Given the description of an element on the screen output the (x, y) to click on. 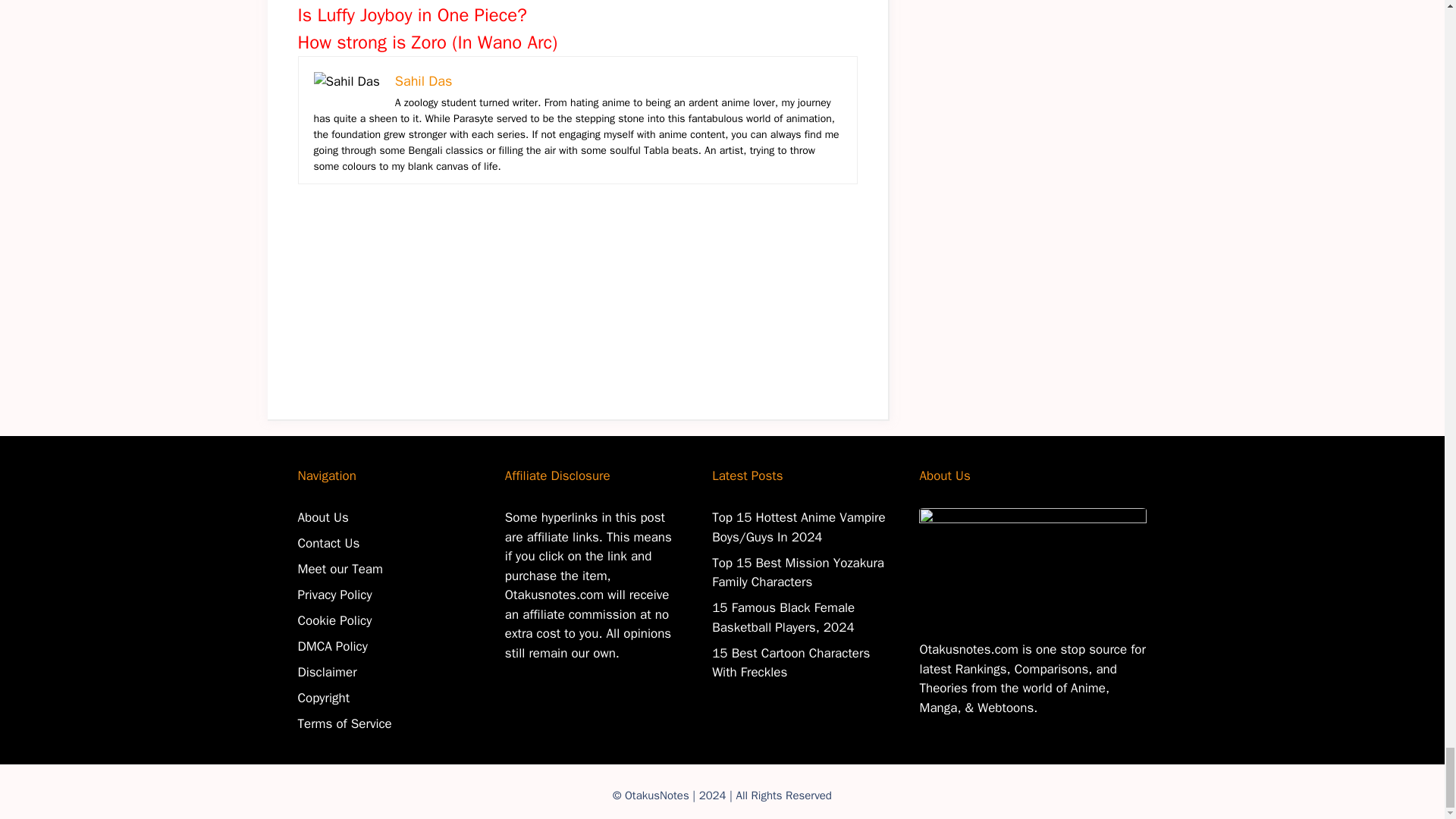
Is Luffy Joyboy in One Piece? (412, 15)
